Given the description of an element on the screen output the (x, y) to click on. 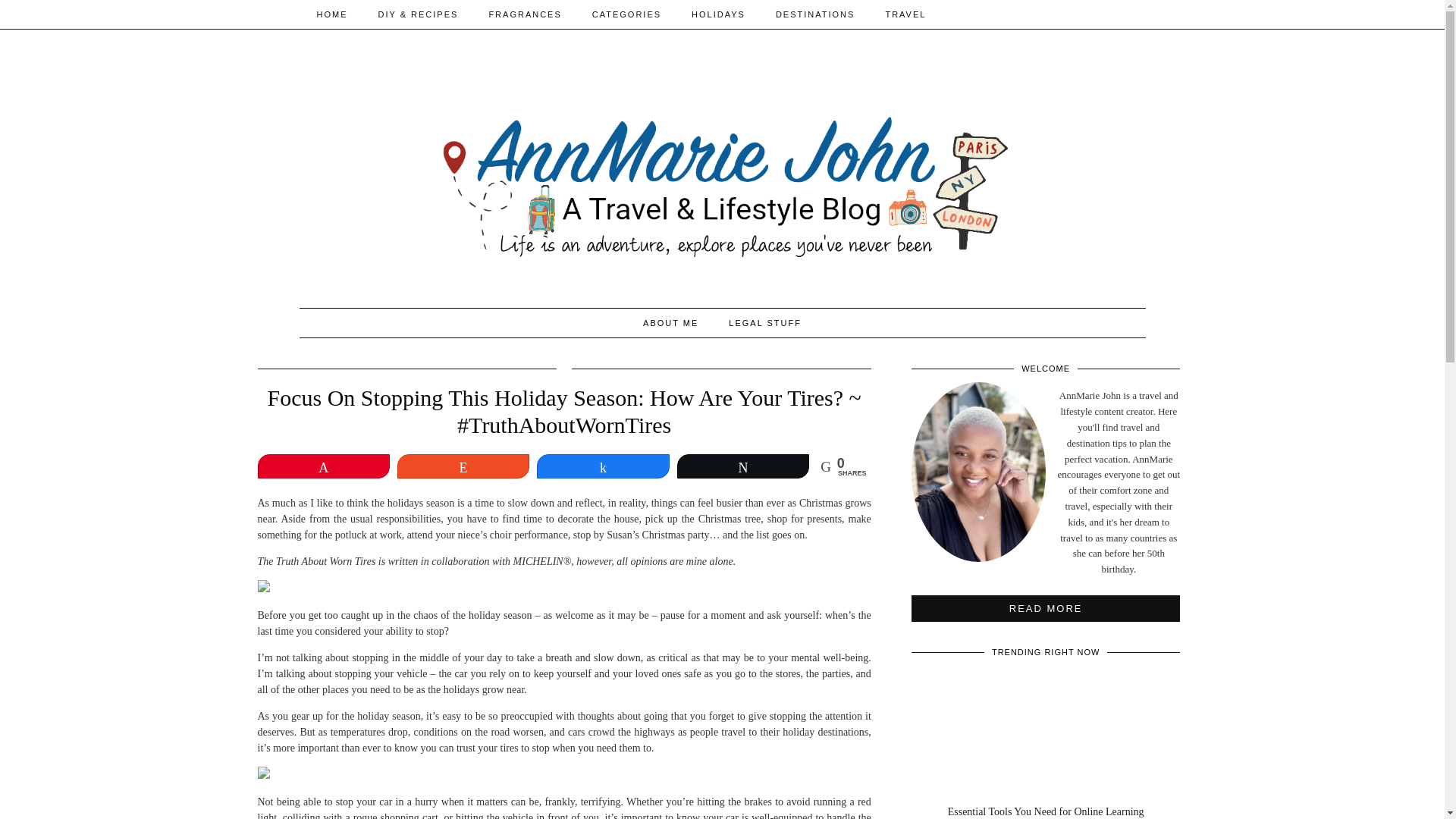
HOLIDAYS (718, 14)
CATEGORIES (626, 14)
DESTINATIONS (814, 14)
HOME (331, 14)
FRAGRANCES (524, 14)
